Given the description of an element on the screen output the (x, y) to click on. 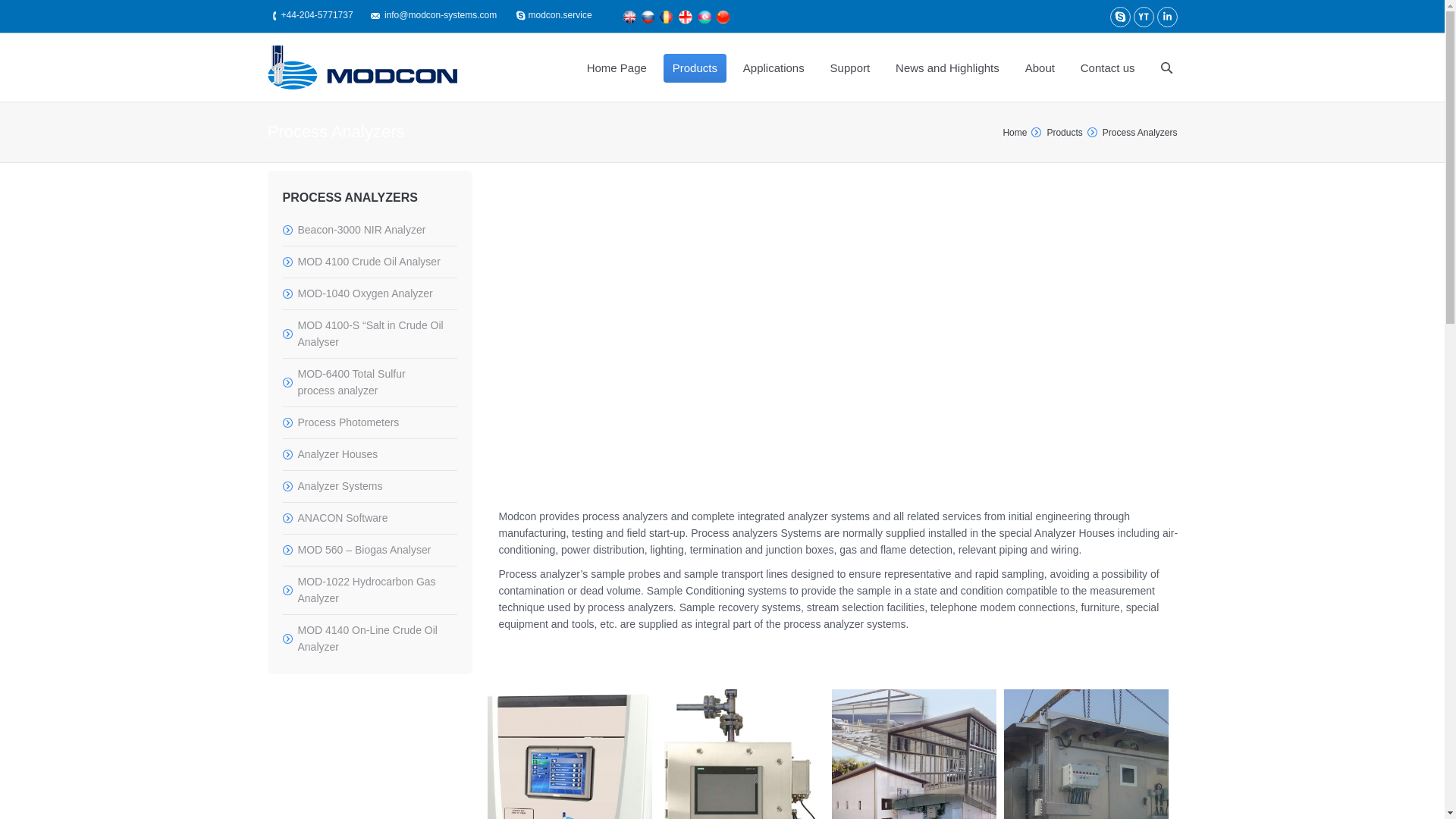
Home Page (617, 67)
Chinese (723, 17)
Russian (648, 17)
Products (694, 67)
YouTube (1142, 16)
Georgia (684, 16)
Skype (1120, 16)
Linkedin (1167, 16)
Romanian (666, 17)
